Given the description of an element on the screen output the (x, y) to click on. 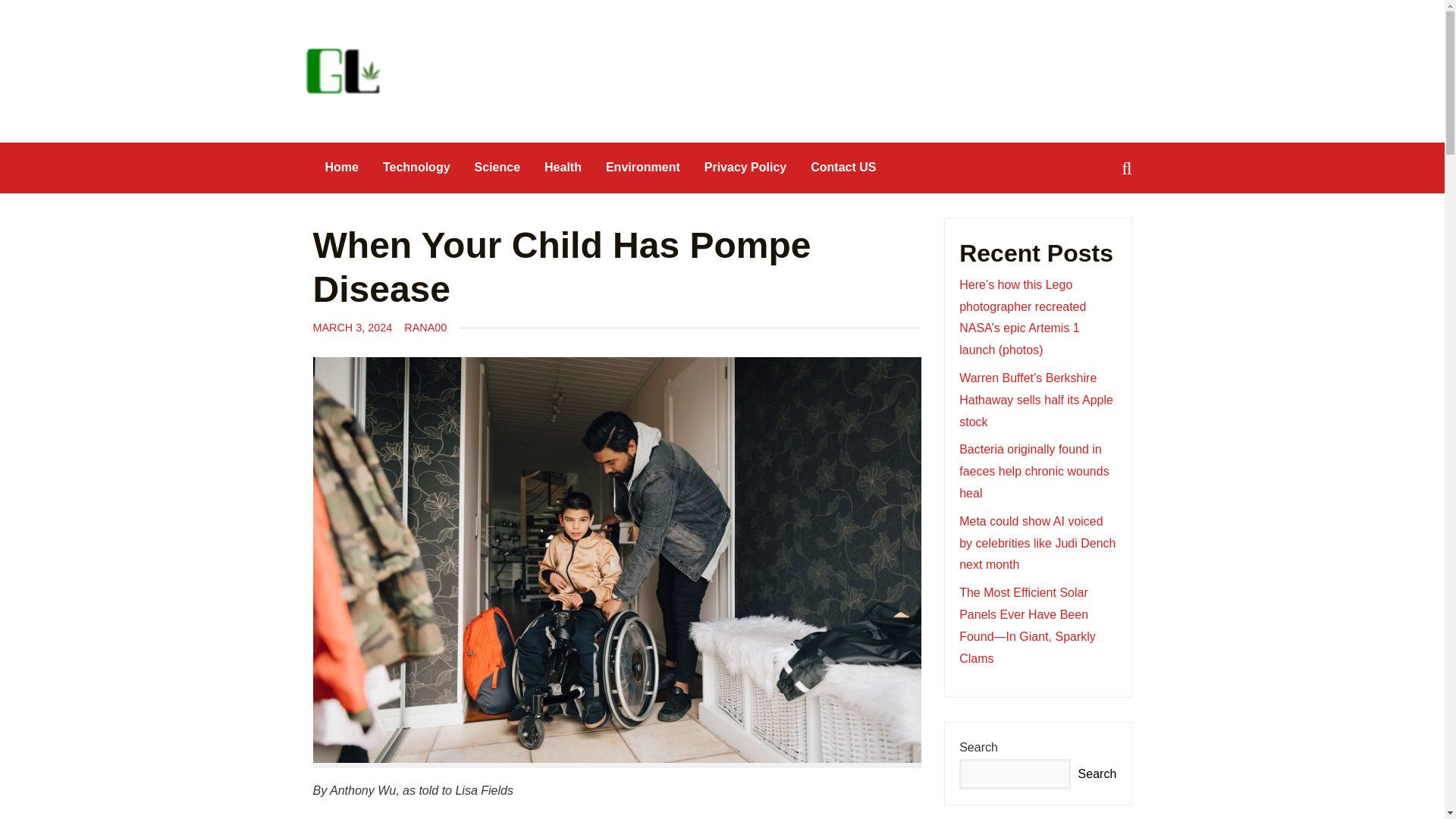
RANA00 (425, 327)
Privacy Policy (746, 167)
Search (39, 13)
Contact US (842, 167)
Technology (417, 167)
Home (341, 167)
Science (497, 167)
Health (563, 167)
MARCH 3, 2024 (352, 327)
Environment (643, 167)
